Given the description of an element on the screen output the (x, y) to click on. 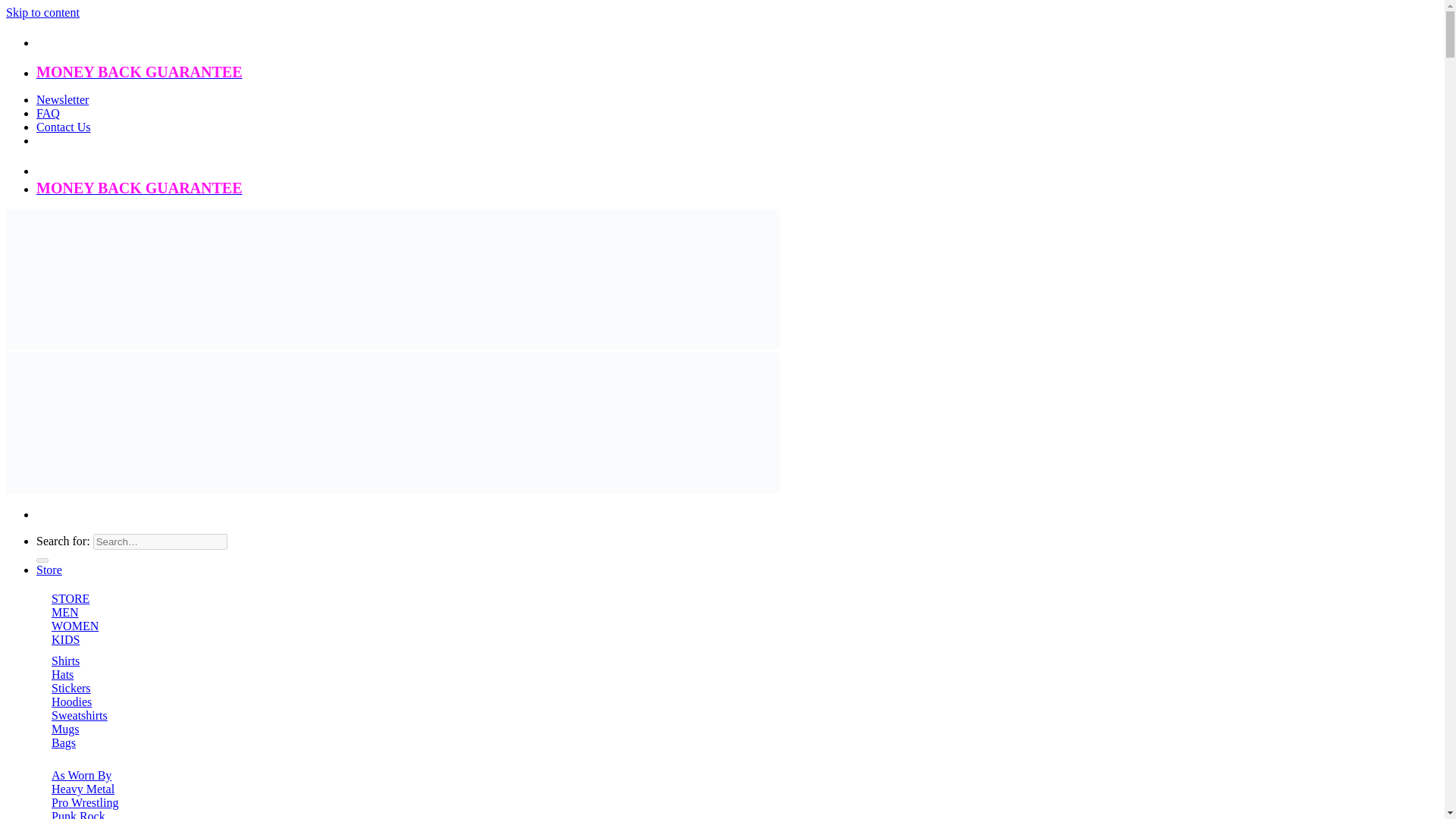
Punk Rock (77, 814)
PYGear.com - As Worn By T-Shirts (391, 417)
KIDS (65, 639)
Sweatshirts (78, 715)
MONEY BACK GUARANTEE (139, 188)
Hoodies (70, 701)
Contact Us (63, 126)
Store (49, 569)
Mugs (64, 728)
WOMEN (74, 625)
